Given the description of an element on the screen output the (x, y) to click on. 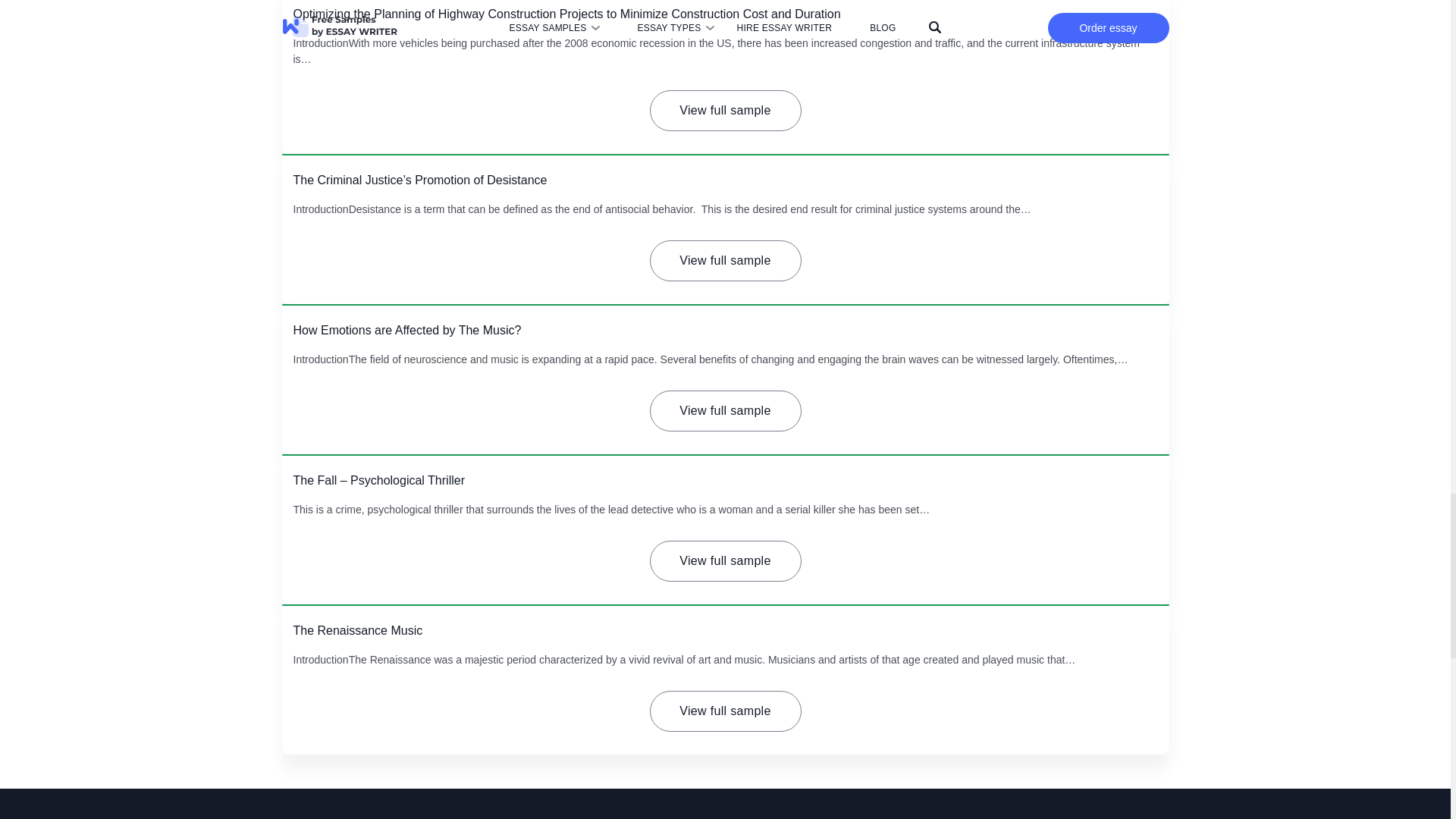
How Emotions are Affected by The Music? (406, 329)
The Renaissance Music (357, 630)
